Given the description of an element on the screen output the (x, y) to click on. 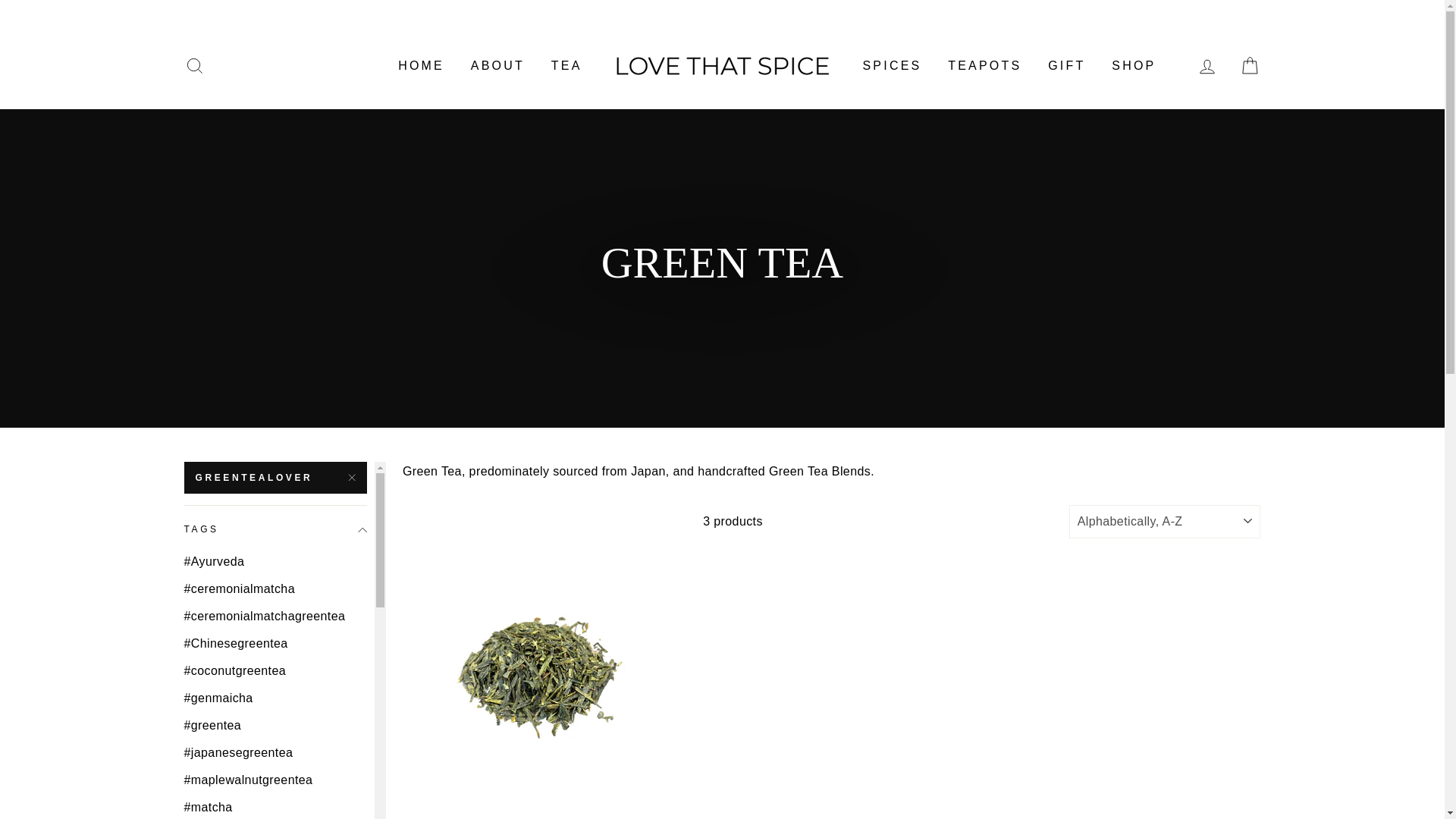
HOME (421, 65)
TEAPOTS (984, 65)
GIFT (1066, 65)
TEA (567, 65)
ABOUT (497, 65)
SEARCH (194, 65)
SPICES (891, 65)
